Given the description of an element on the screen output the (x, y) to click on. 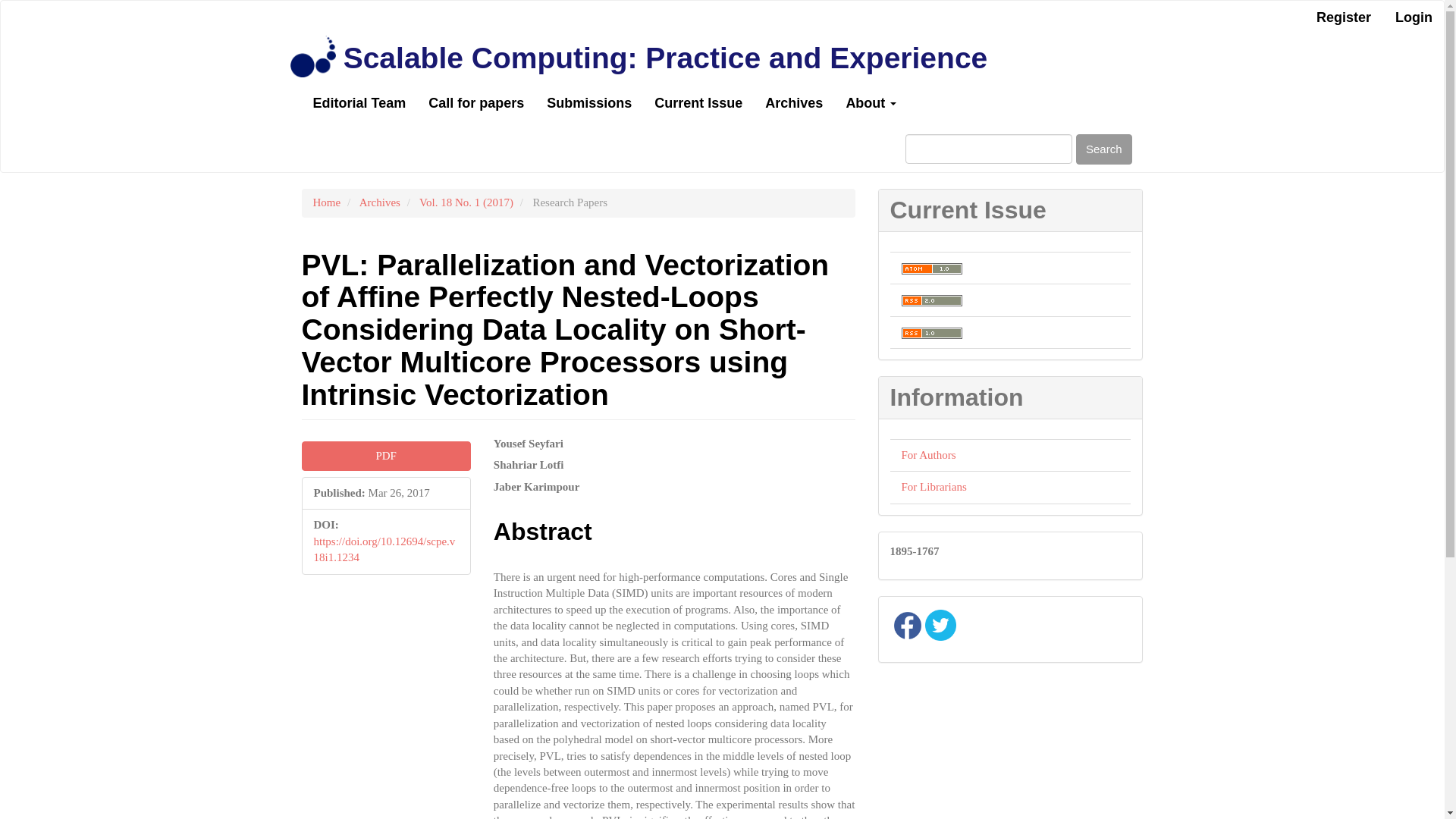
Scalable Computing: Practice and Experience (664, 58)
Search (1103, 148)
Login (1414, 18)
Submissions (589, 103)
Archives (794, 103)
Current Issue (698, 103)
Editorial Team (359, 103)
Home (326, 202)
For Authors (928, 454)
Archives (379, 202)
